Given the description of an element on the screen output the (x, y) to click on. 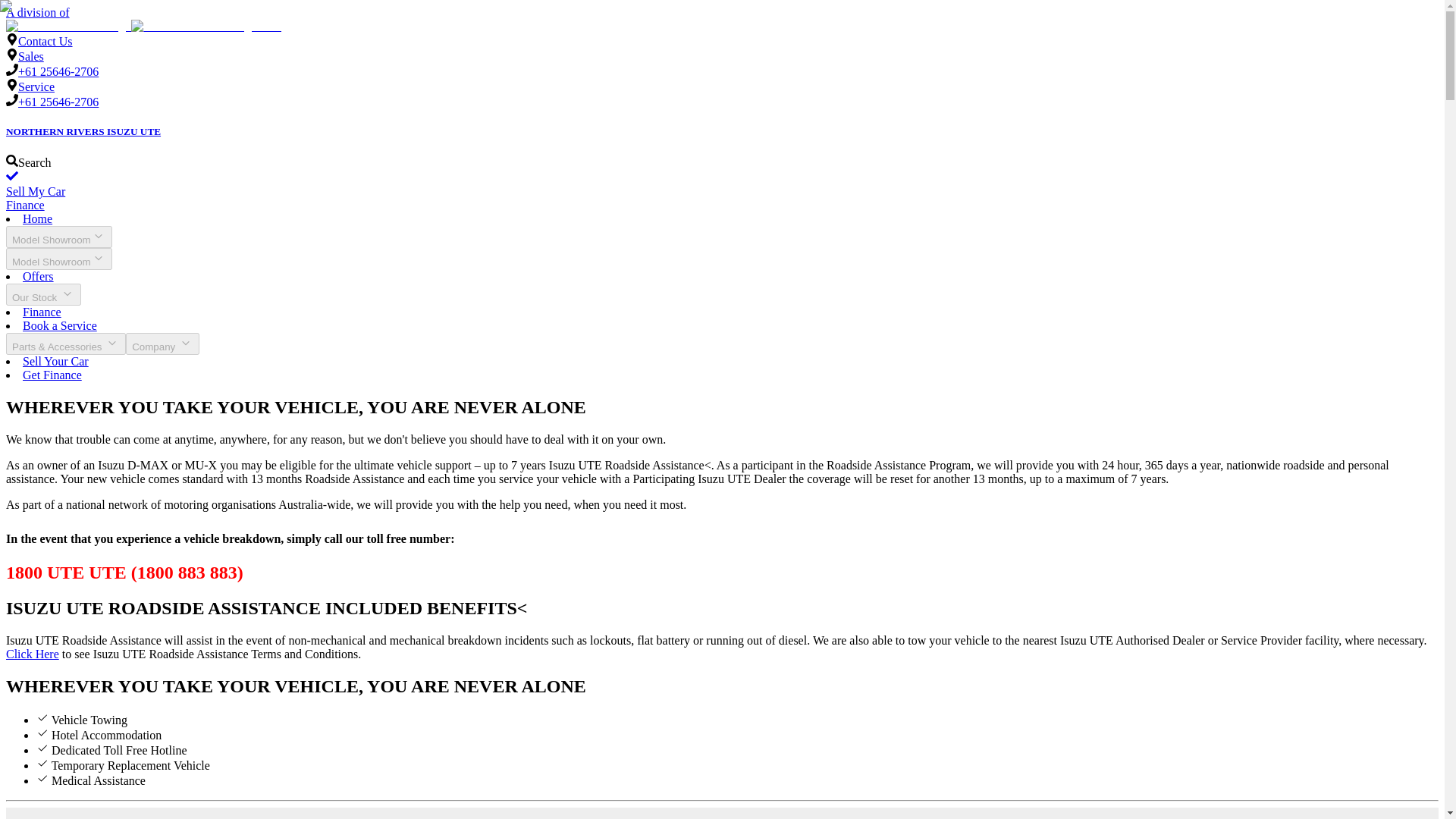
Our Stock (43, 294)
Company (162, 343)
Home (37, 218)
Model Showroom (58, 237)
Offers (38, 276)
Sales (30, 56)
Click Here (32, 653)
Finance (42, 311)
Get Finance (52, 374)
Contact Us (44, 41)
Service (36, 86)
Sell Your Car (55, 360)
Finance (25, 205)
Model Showroom (58, 259)
Book a Service (60, 325)
